Given the description of an element on the screen output the (x, y) to click on. 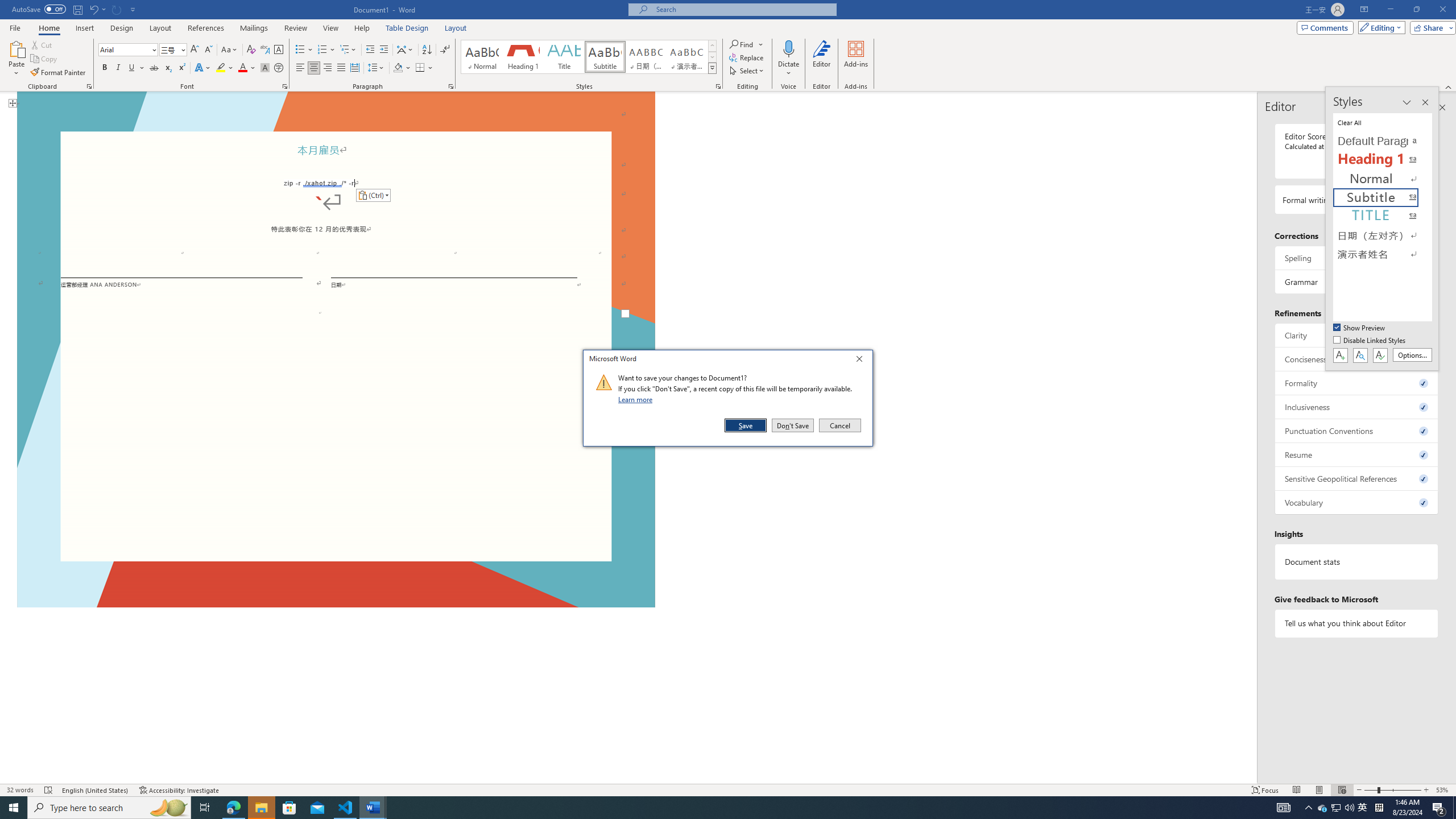
Word Count 32 words (19, 790)
Document statistics (1356, 561)
Cancel (839, 425)
Conciseness, 0 issues. Press space or enter to review items. (1356, 359)
